Given the description of an element on the screen output the (x, y) to click on. 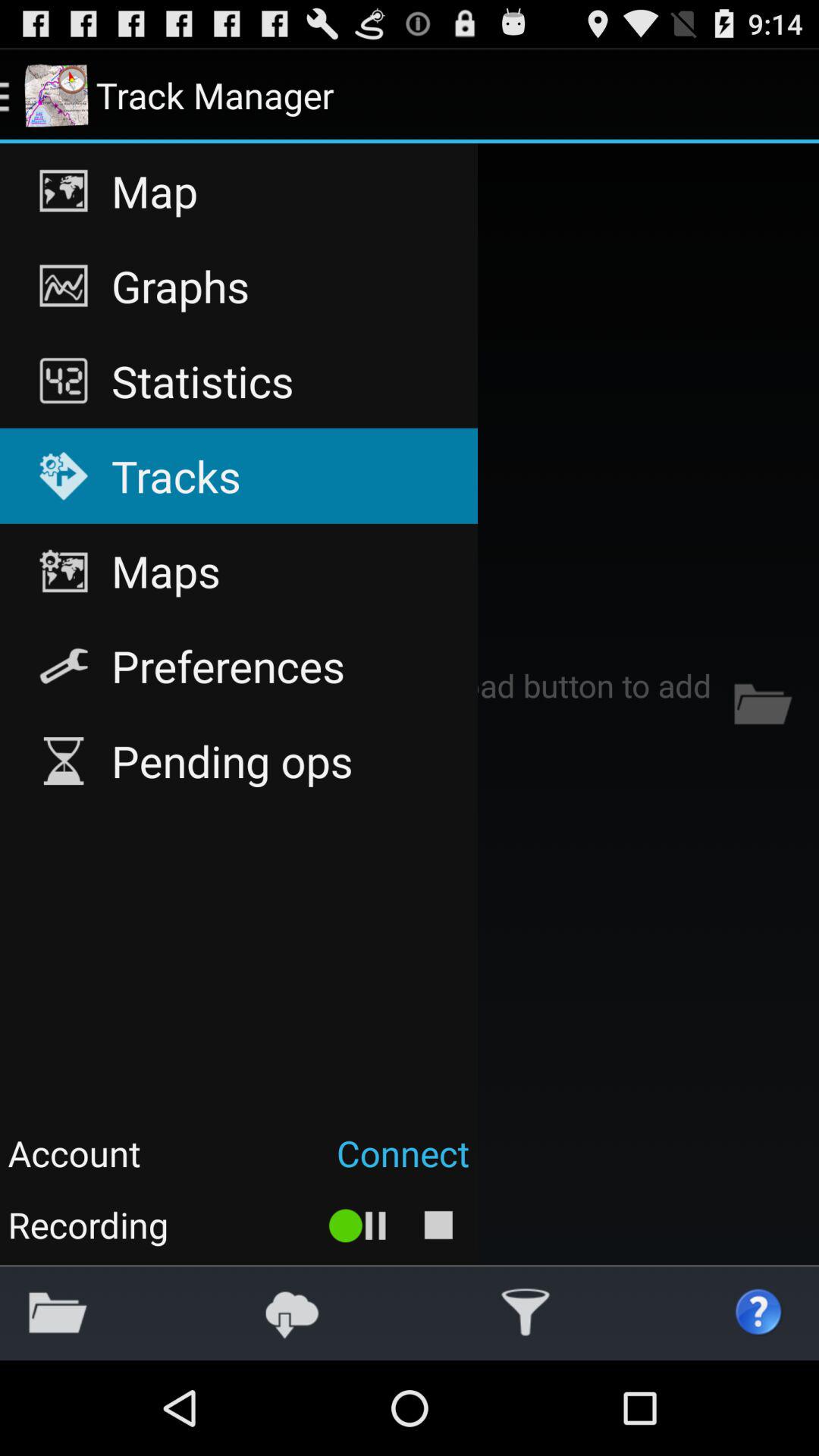
turn off item next to recording icon (358, 1224)
